Given the description of an element on the screen output the (x, y) to click on. 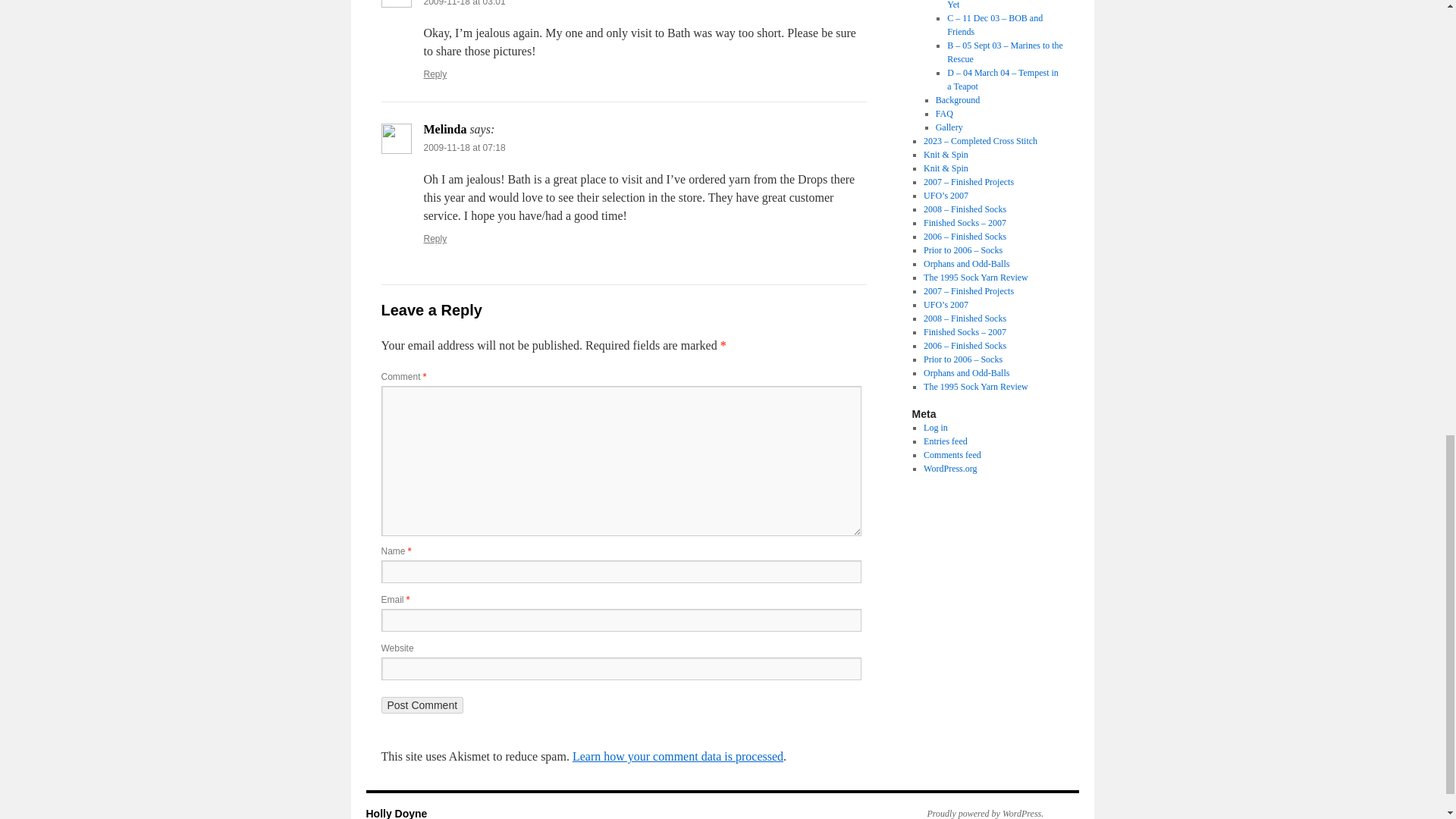
2009-11-18 at 07:18 (464, 147)
Reply (434, 238)
Post Comment (421, 704)
2009-11-18 at 03:01 (464, 3)
Post Comment (421, 704)
Reply (434, 73)
Learn how your comment data is processed (677, 756)
